Given the description of an element on the screen output the (x, y) to click on. 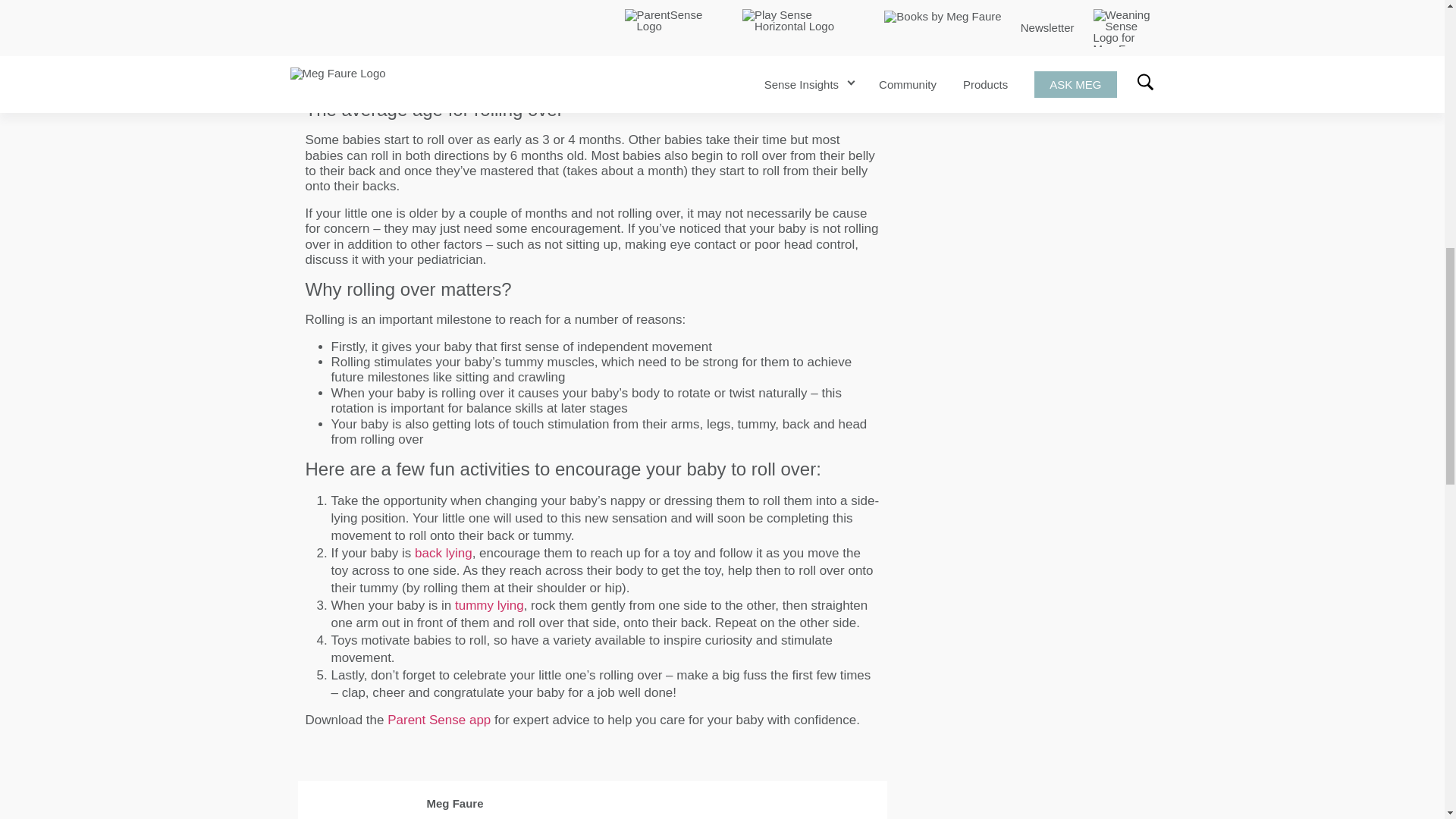
developmental milestones (379, 64)
Parent Sense app (438, 719)
tummy lying (489, 605)
Podcasts (928, 2)
back lying (442, 553)
Sense Courses (1007, 2)
